Given the description of an element on the screen output the (x, y) to click on. 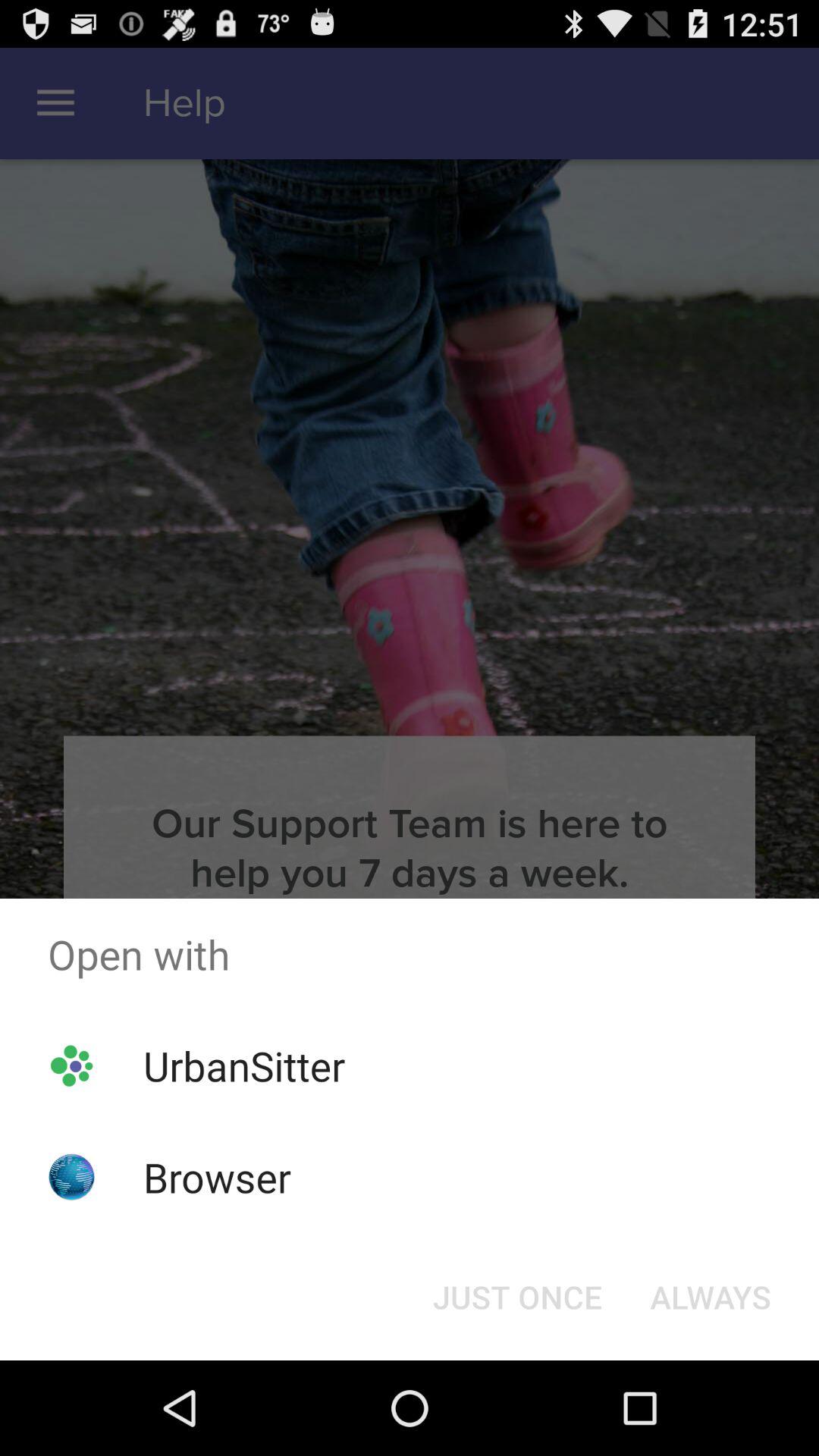
flip until the urbansitter icon (244, 1065)
